Given the description of an element on the screen output the (x, y) to click on. 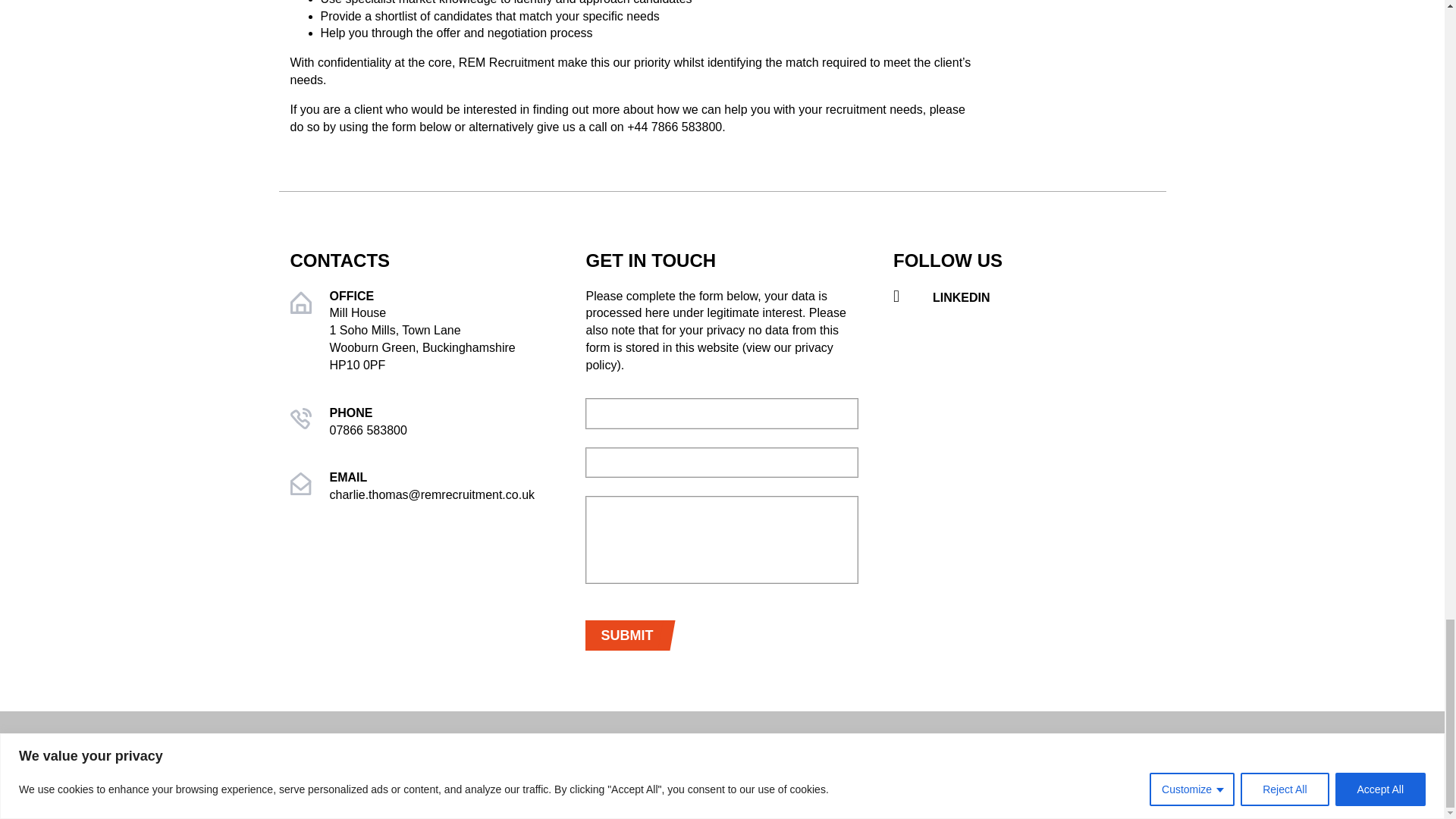
SUBMIT (626, 634)
Recruitment website by www.recruiterweb.co.uk (1280, 784)
LinkedIn (1023, 297)
RecruiterWEB (1280, 784)
view our privacy policy (708, 356)
Privacy Policy (1273, 755)
Cookie Policy (1372, 755)
privacy (708, 356)
LINKEDIN (1023, 297)
